Given the description of an element on the screen output the (x, y) to click on. 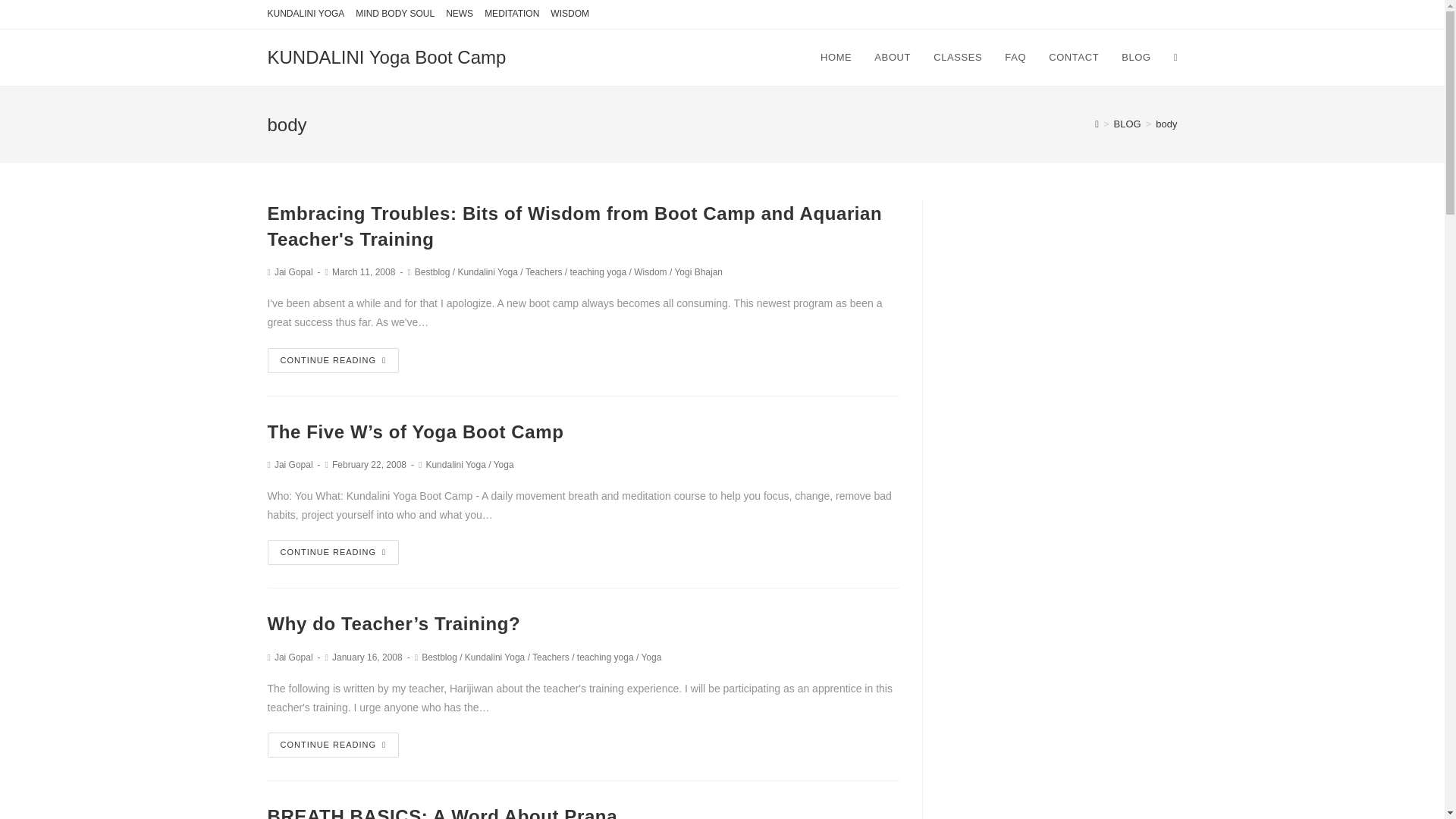
Kundalini Yoga (454, 464)
BLOG (1135, 57)
CLASSES (956, 57)
Jai Gopal (294, 271)
Teachers (550, 656)
Jai Gopal (294, 464)
MIND BODY SOUL (394, 13)
Posts by Jai Gopal (294, 271)
Kundalini Yoga News (459, 13)
HOME (836, 57)
